Given the description of an element on the screen output the (x, y) to click on. 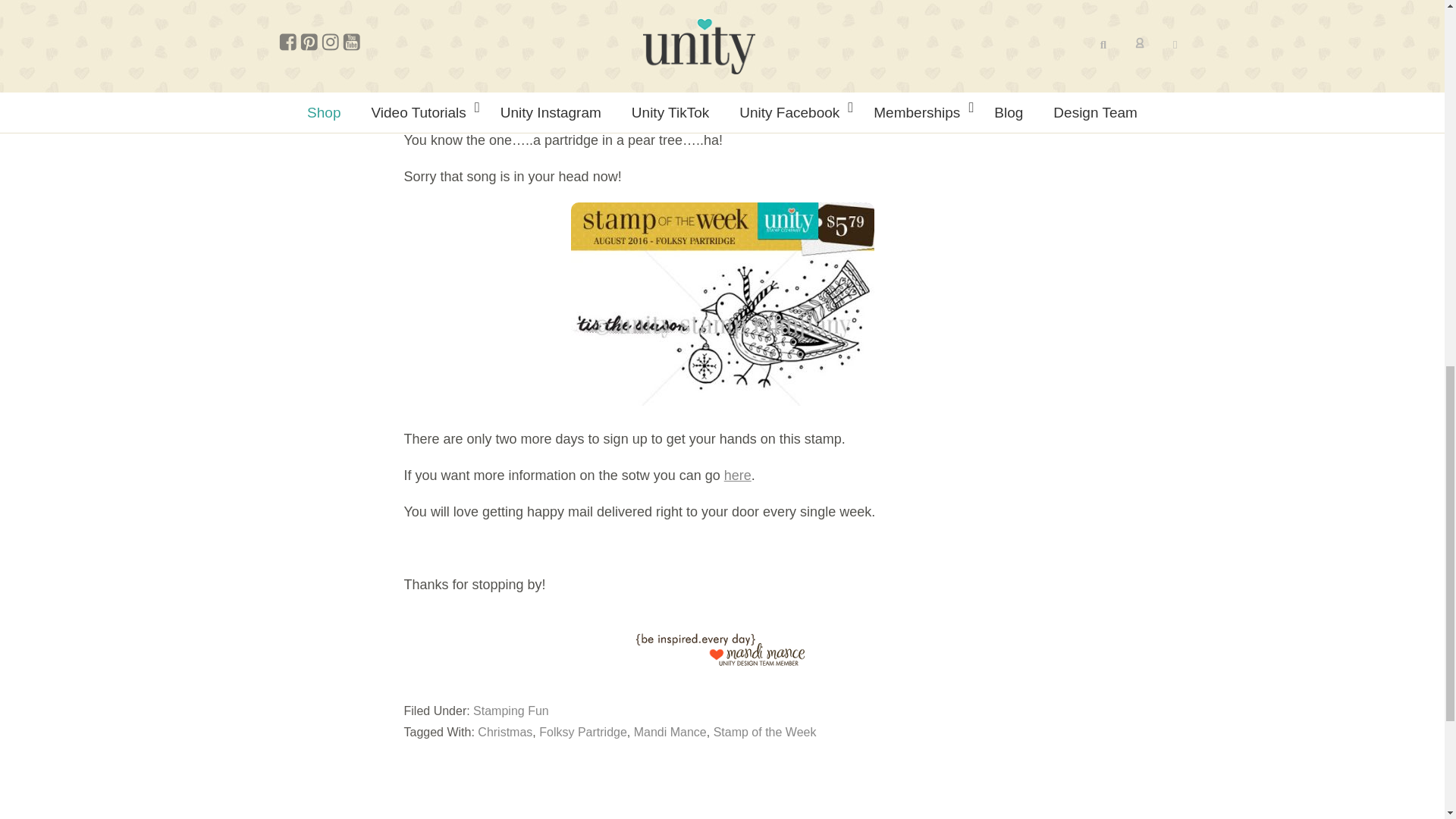
Stamp of the Week (764, 731)
Mandi Mance (669, 731)
here (737, 474)
Folksy Partridge (582, 731)
Christmas (504, 731)
Stamping Fun (510, 710)
